Given the description of an element on the screen output the (x, y) to click on. 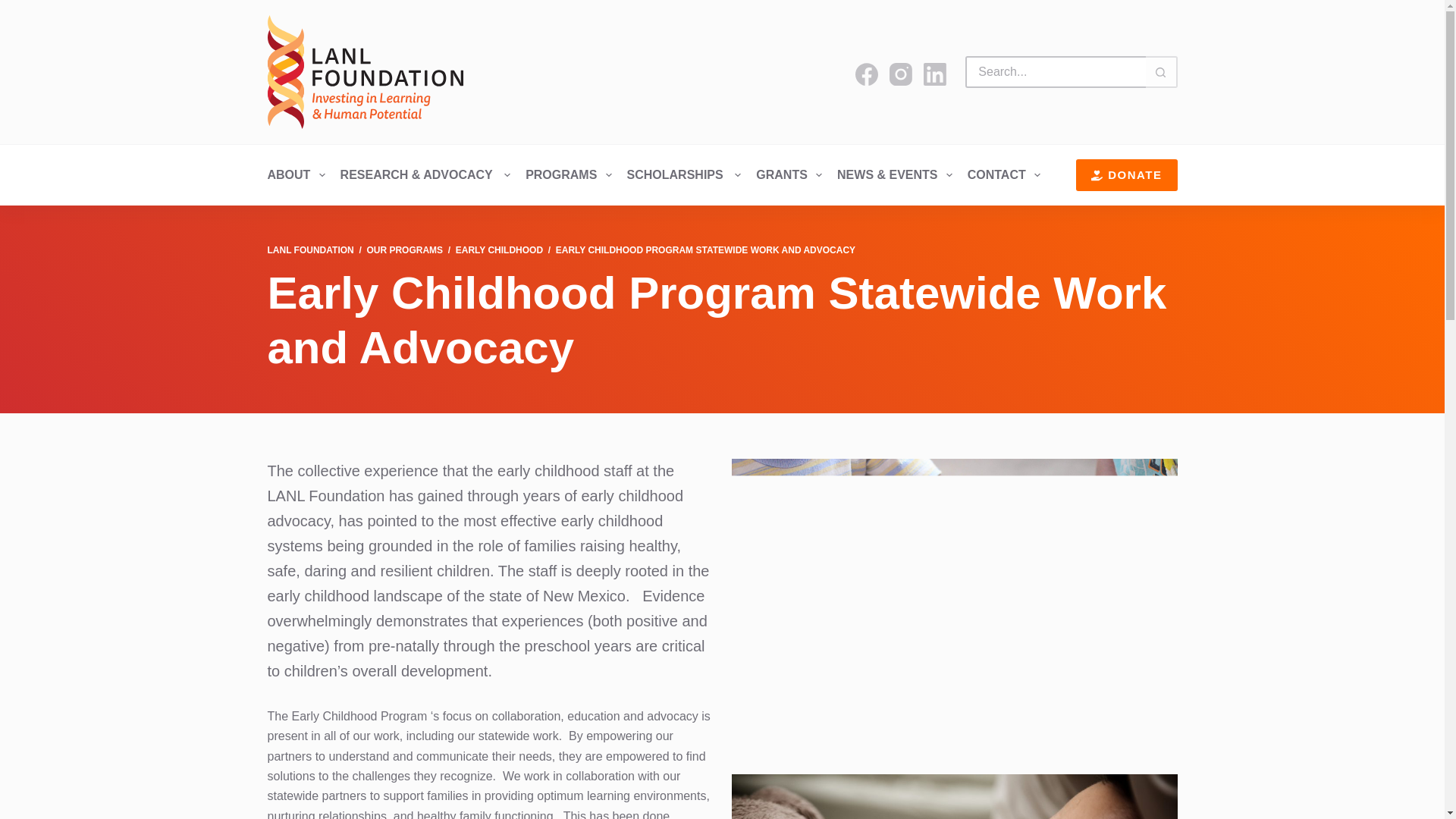
Go to LANL Foundation. (309, 249)
Search for... (1054, 71)
Go to Our Programs. (404, 249)
Go to Early Childhood. (499, 249)
Early Childhood Program Statewide Work and Advocacy (721, 320)
Skip to content (15, 7)
